Given the description of an element on the screen output the (x, y) to click on. 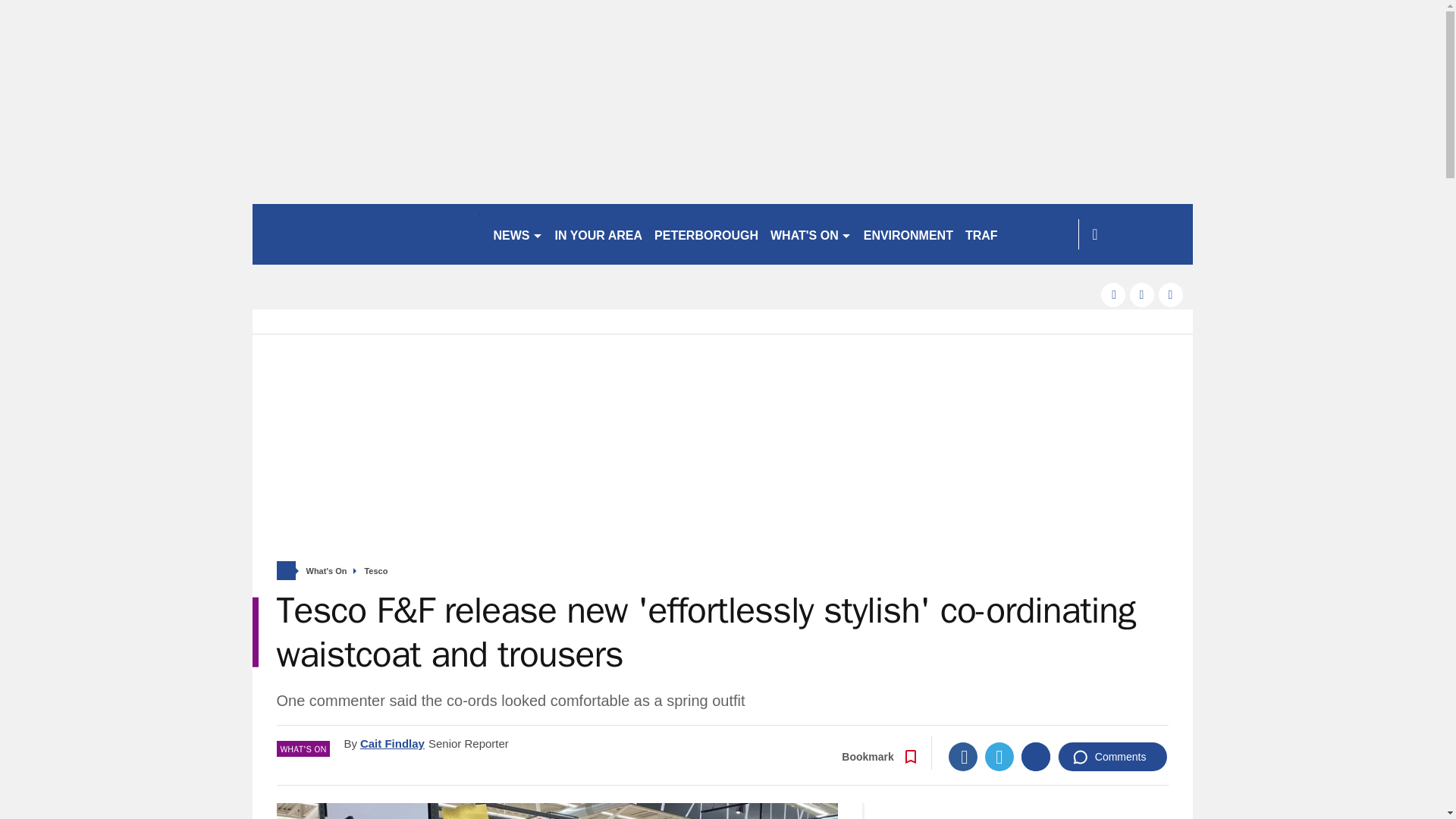
NEWS (517, 233)
IN YOUR AREA (598, 233)
Facebook (962, 756)
instagram (1170, 294)
Comments (1112, 756)
WHAT'S ON (810, 233)
facebook (1112, 294)
twitter (1141, 294)
Twitter (999, 756)
ENVIRONMENT (908, 233)
